Given the description of an element on the screen output the (x, y) to click on. 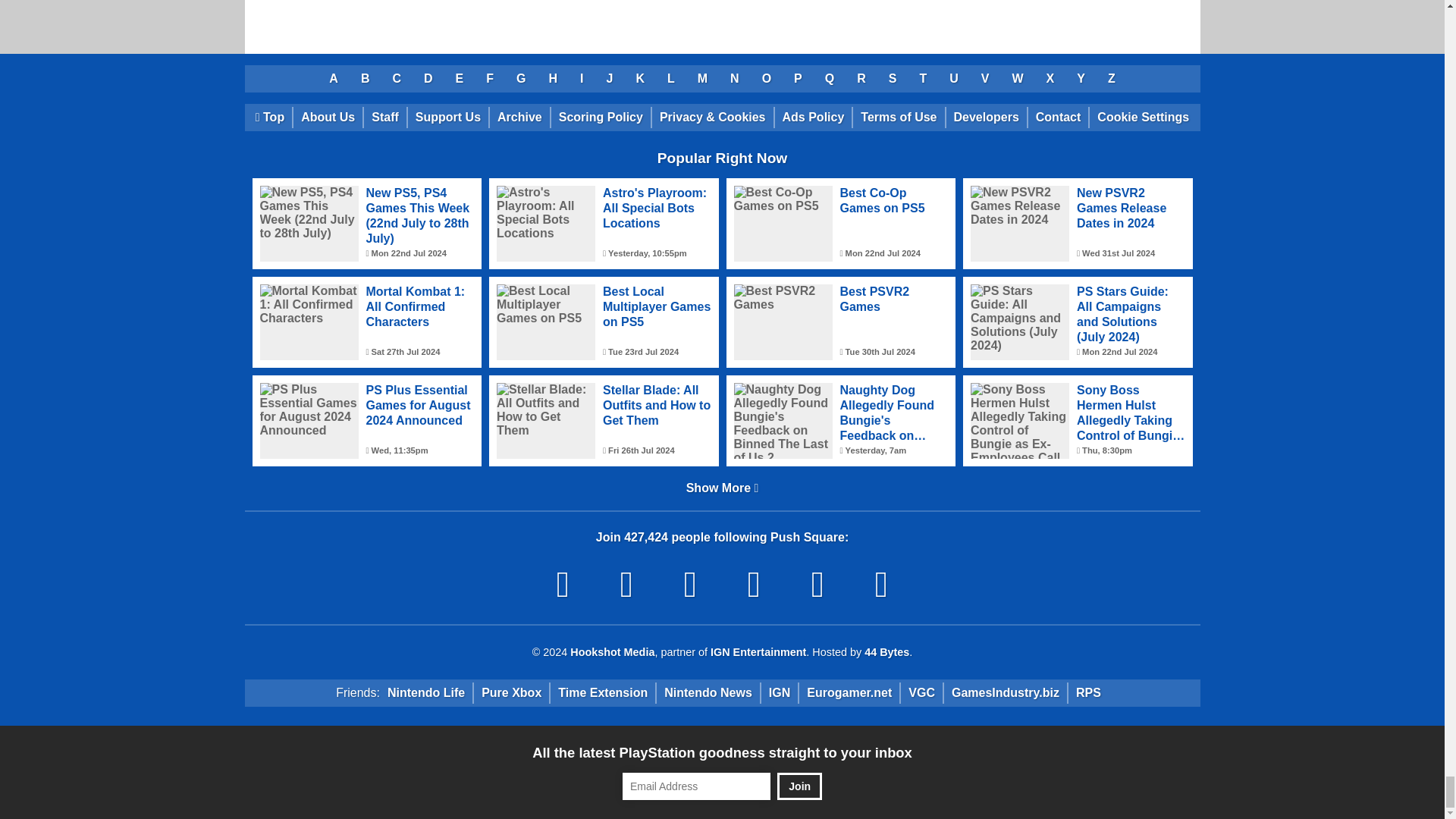
Join (799, 786)
